Given the description of an element on the screen output the (x, y) to click on. 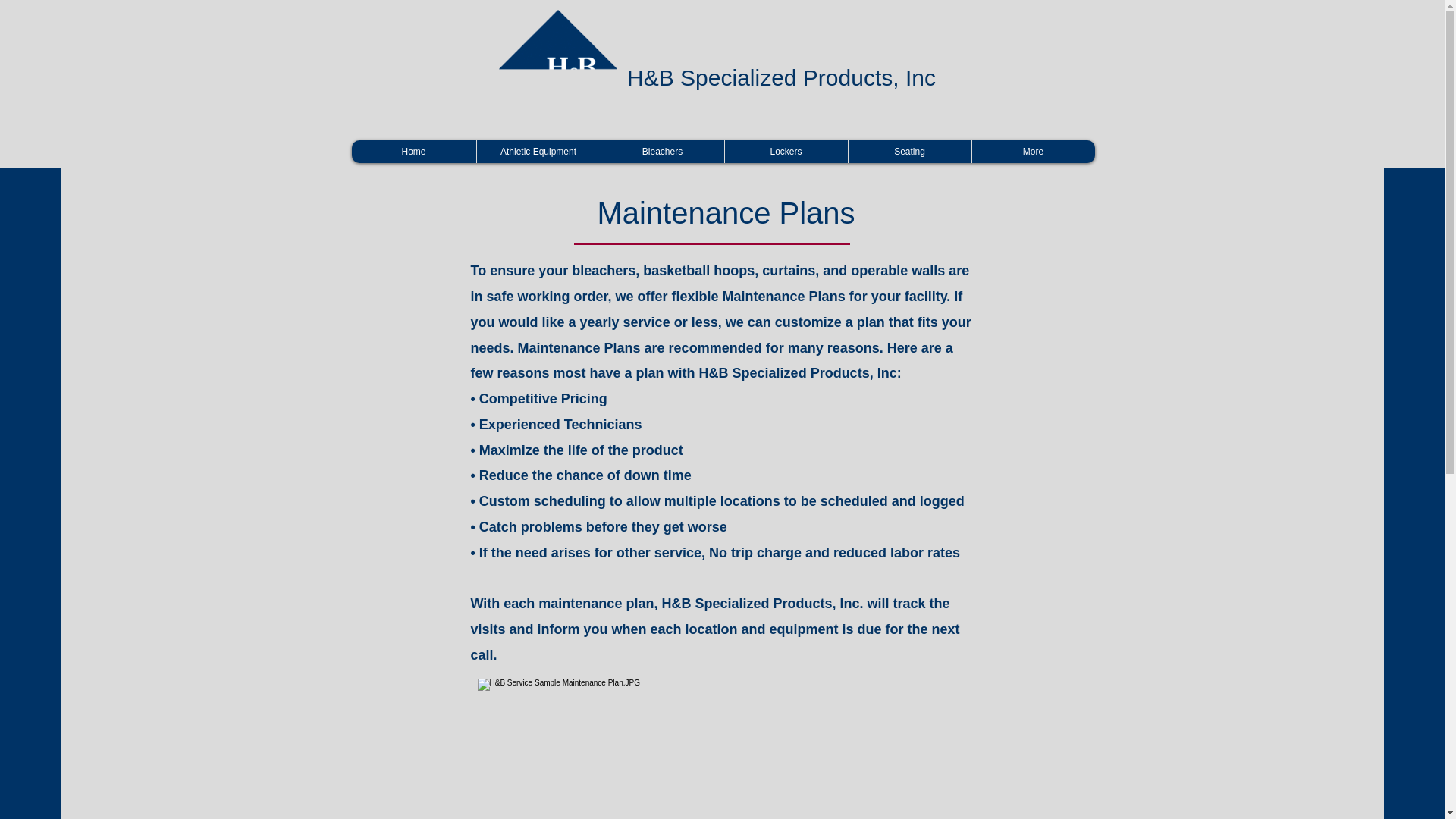
Lockers (785, 151)
Seating (909, 151)
Athletic Equipment (537, 151)
Bleachers (661, 151)
Home (414, 151)
